Given the description of an element on the screen output the (x, y) to click on. 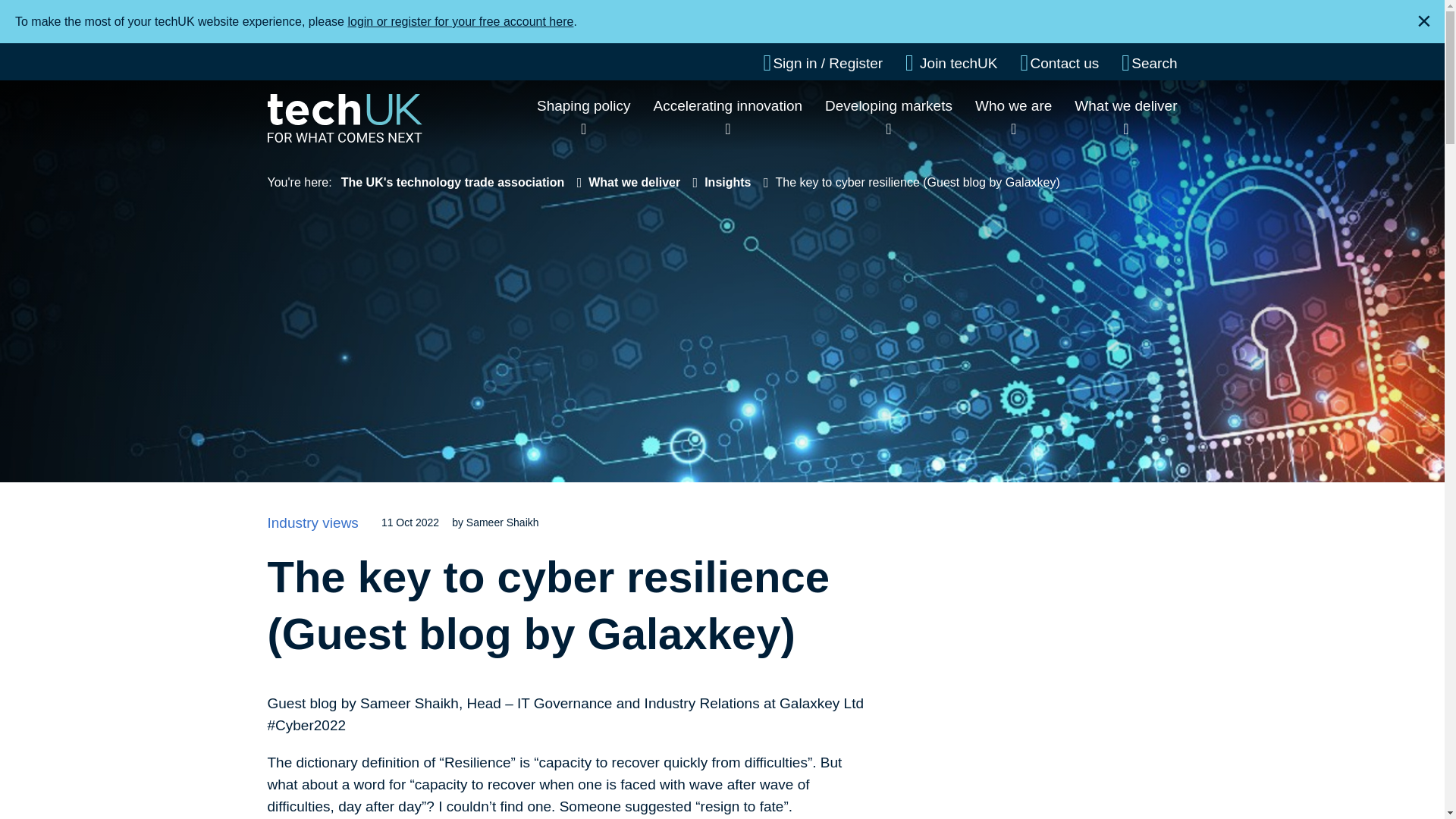
Join techUK (951, 62)
Accelerating innovation (727, 105)
Shaping policy (583, 105)
Search (1148, 62)
Contact us (1059, 62)
login or register for your free account here (460, 21)
